Given the description of an element on the screen output the (x, y) to click on. 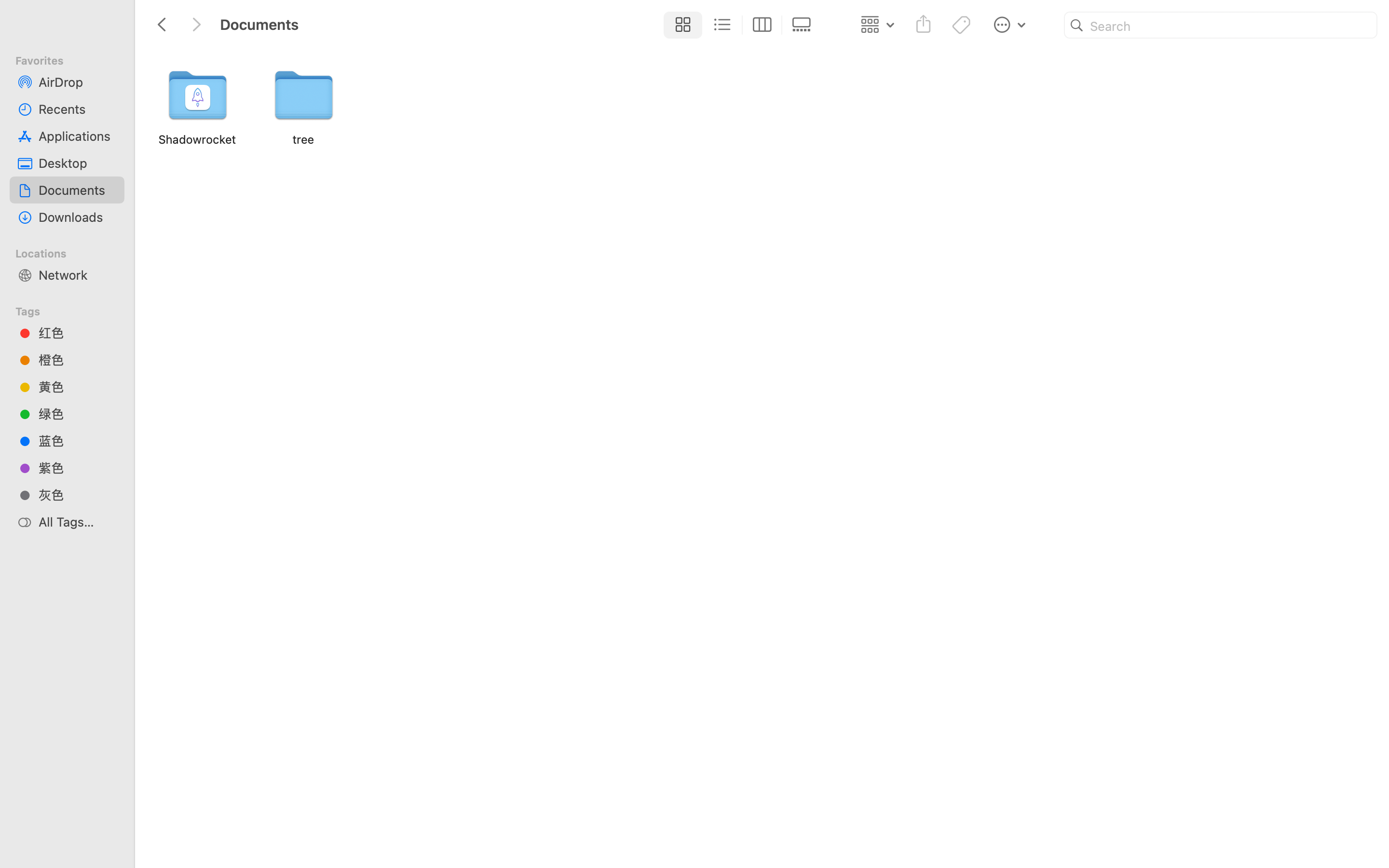
Recents Element type: AXStaticText (77, 108)
红色 Element type: AXStaticText (77, 332)
